Given the description of an element on the screen output the (x, y) to click on. 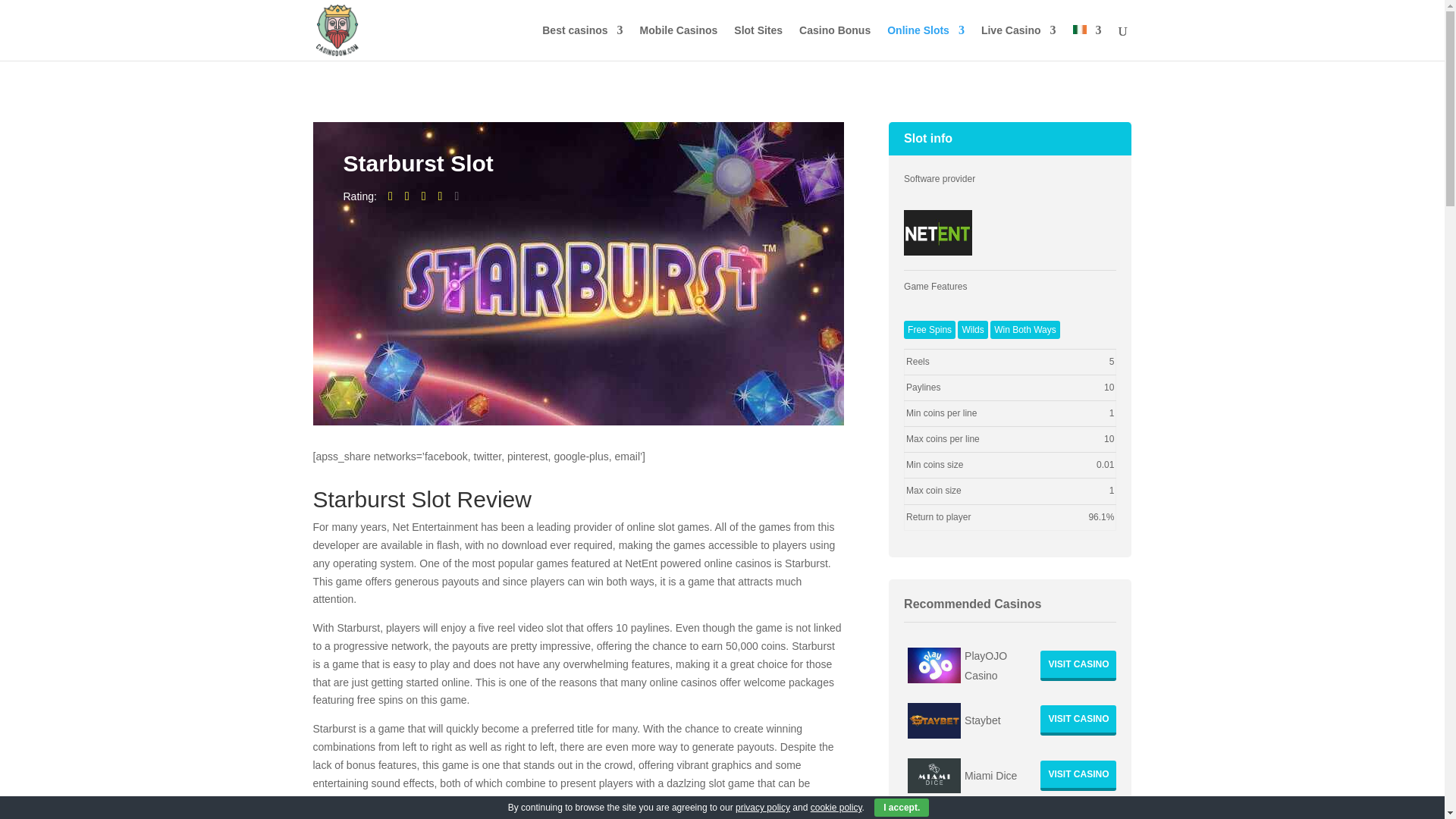
Miami Dice (1078, 775)
Starburst Slot (938, 232)
Staybet (1078, 720)
Live Casino (1019, 42)
Casino Bonus (834, 42)
PlayOJO (1078, 665)
Slot Sites (758, 42)
English IE (1078, 29)
Mobile Casinos (678, 42)
Online Slots (924, 42)
